Given the description of an element on the screen output the (x, y) to click on. 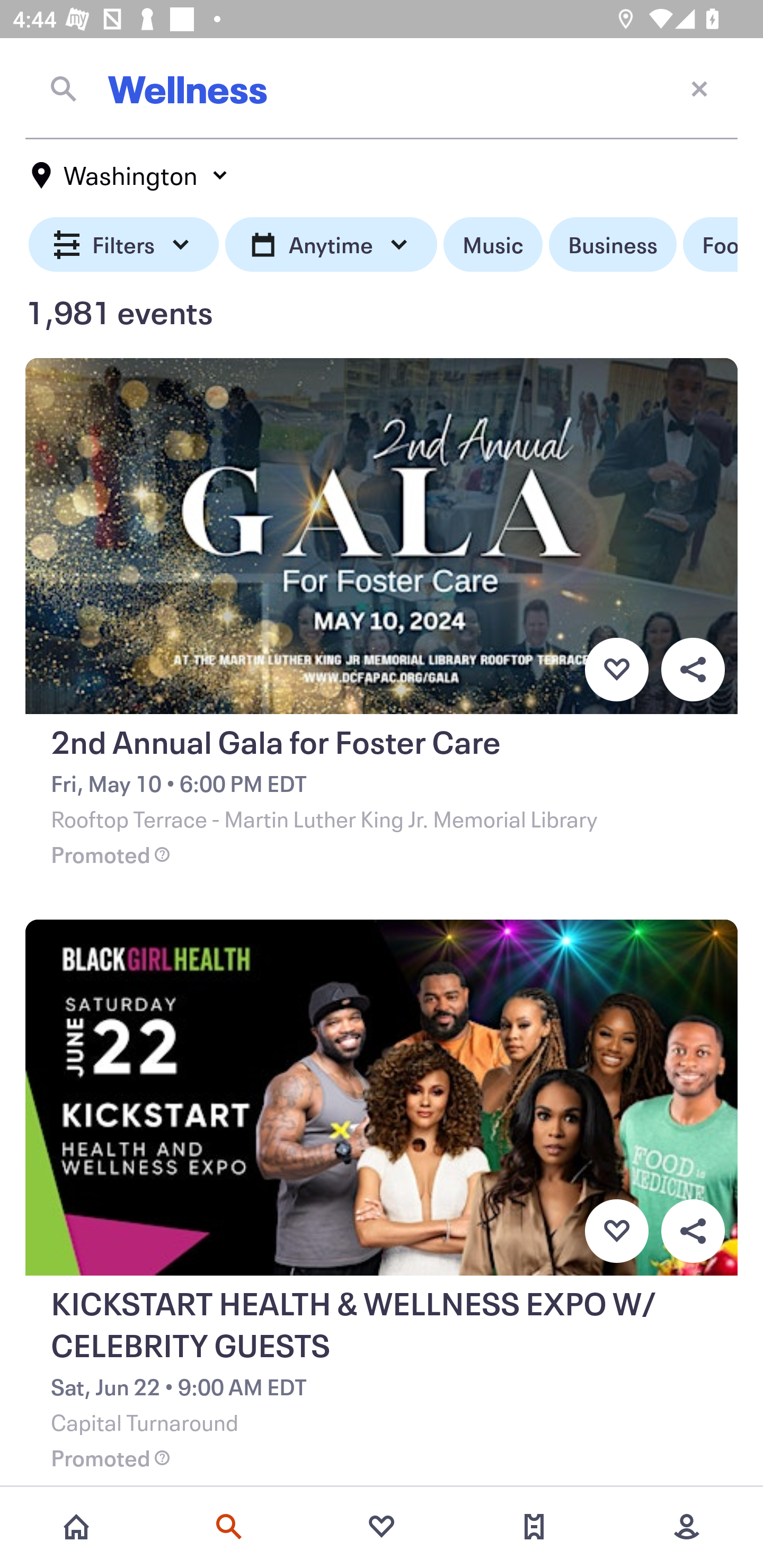
Wellness Close current screen (381, 88)
Close current screen (699, 88)
Washington (130, 175)
Filters (123, 244)
Anytime (331, 244)
Music (492, 244)
Business (612, 244)
Favorite button (616, 669)
Overflow menu button (692, 669)
Favorite button (616, 1230)
Overflow menu button (692, 1230)
Home (76, 1526)
Search events (228, 1526)
Favorites (381, 1526)
Tickets (533, 1526)
More (686, 1526)
